Given the description of an element on the screen output the (x, y) to click on. 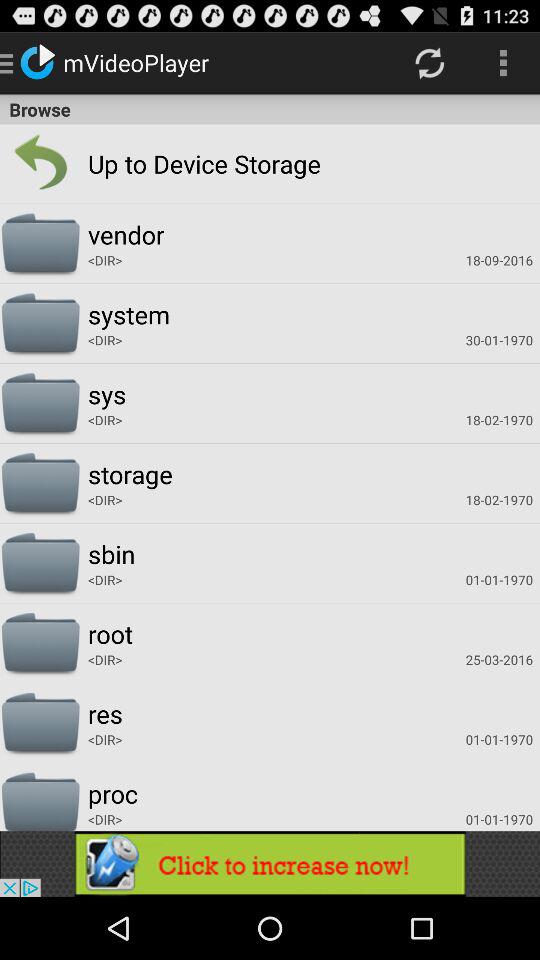
press app next to the mvideoplayer icon (429, 62)
